Given the description of an element on the screen output the (x, y) to click on. 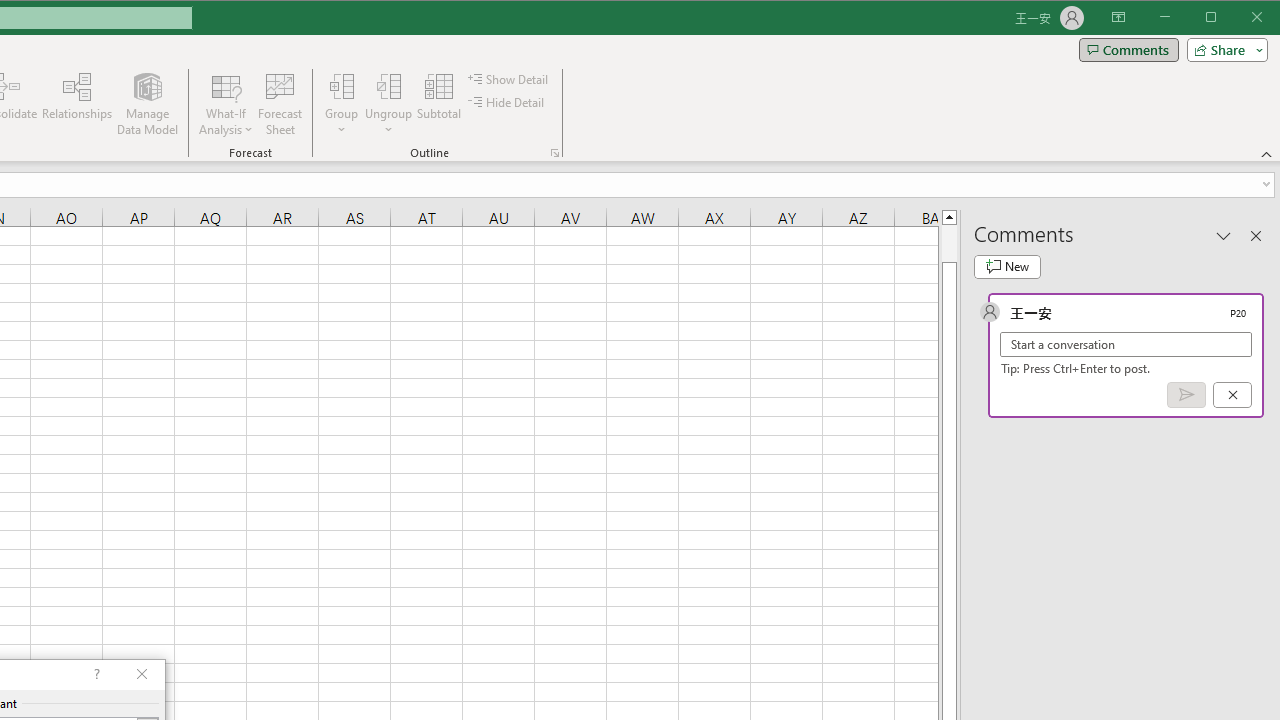
What-If Analysis (226, 104)
Group and Outline Settings (554, 152)
Forecast Sheet (280, 104)
Show Detail (509, 78)
Subtotal (438, 104)
Post comment (Ctrl + Enter) (1186, 395)
Start a conversation (1126, 344)
